Given the description of an element on the screen output the (x, y) to click on. 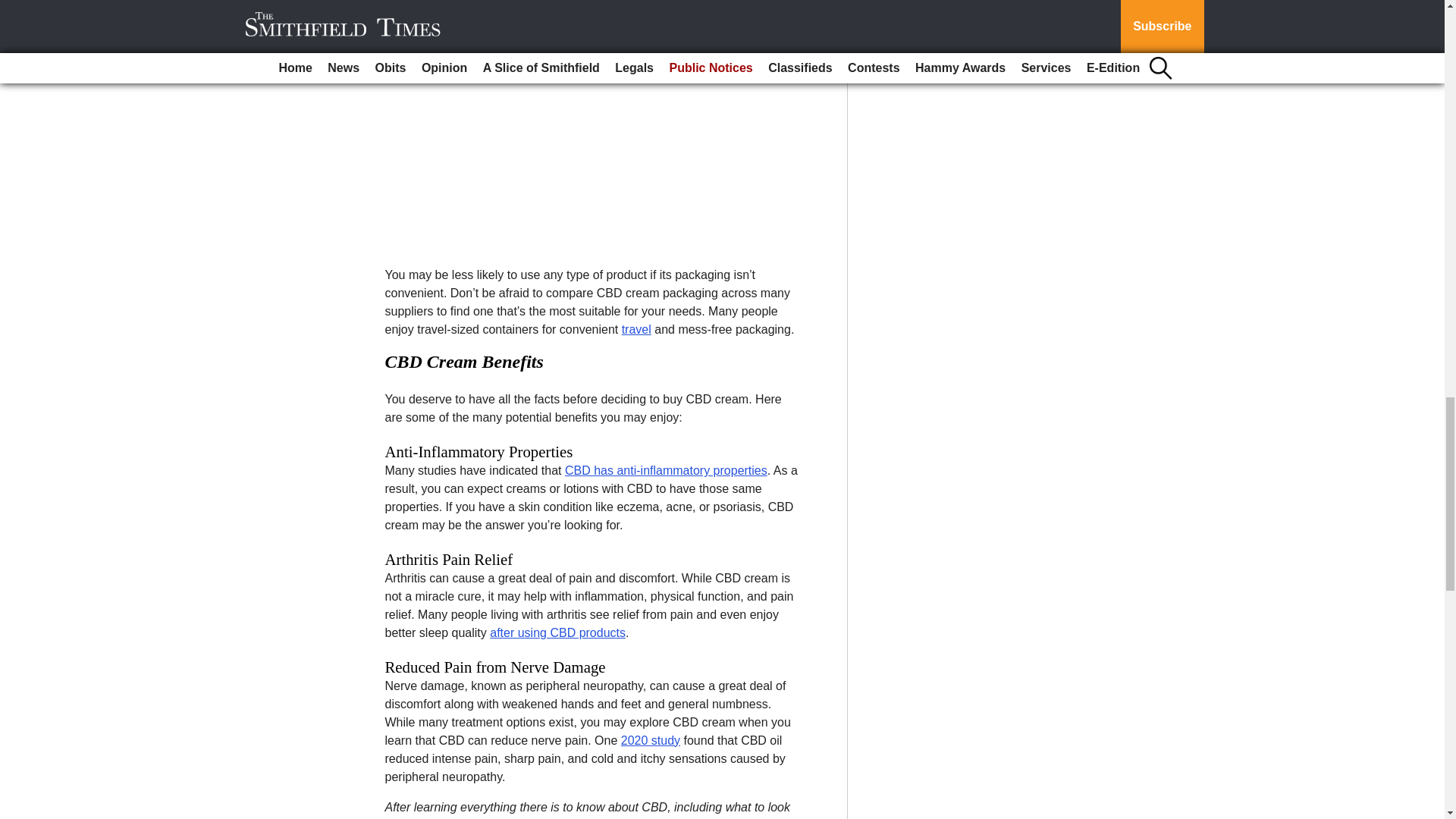
CBD has anti-inflammatory properties (665, 470)
travel (635, 328)
after using CBD products (557, 632)
2020 study (650, 739)
